Given the description of an element on the screen output the (x, y) to click on. 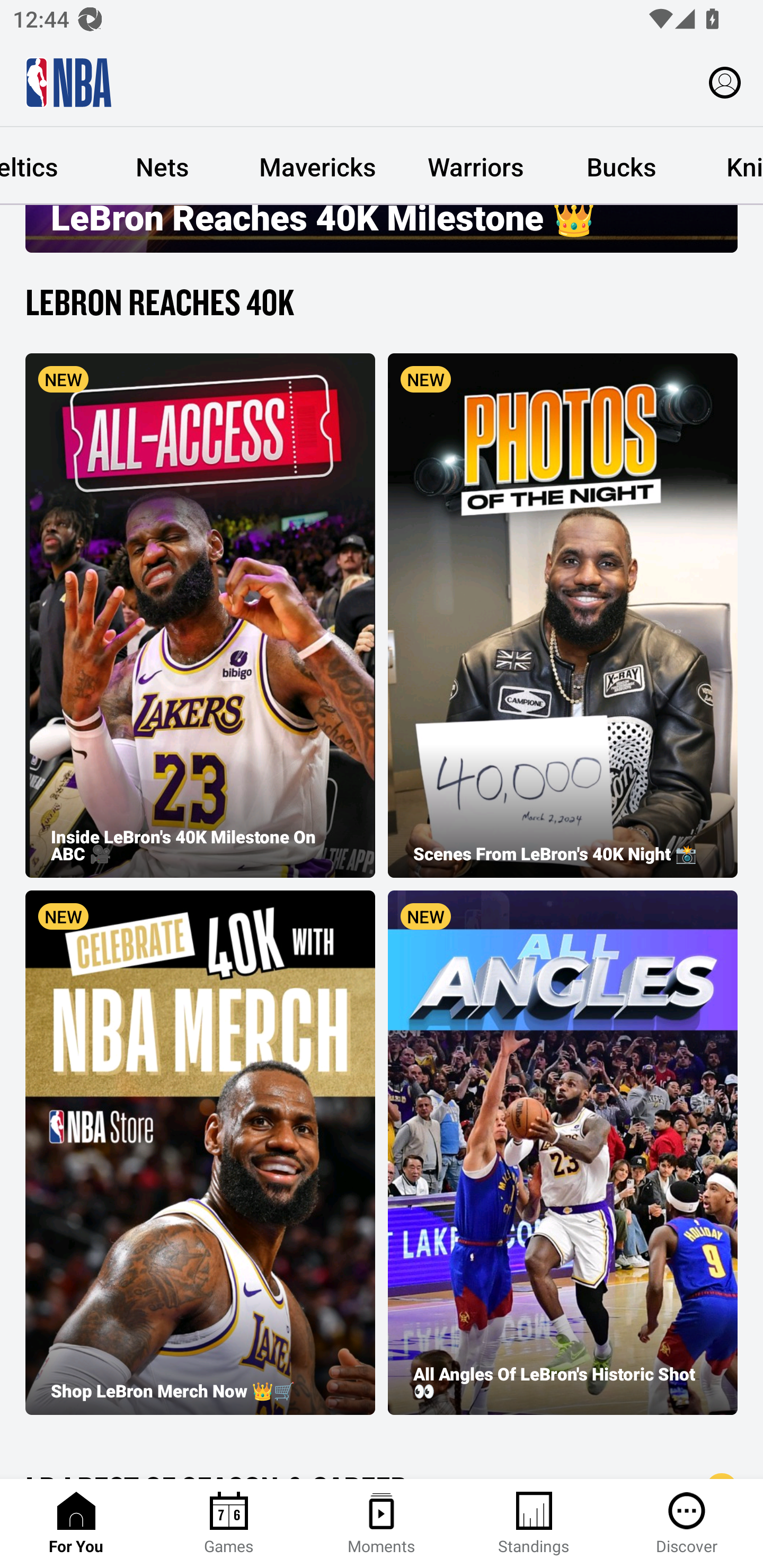
Profile (724, 81)
Nets (161, 166)
Mavericks (317, 166)
Warriors (476, 166)
Bucks (621, 166)
LeBron Reaches 40K Milestone 👑 (381, 228)
NEW Inside LeBron's 40K Milestone On ABC 🎥 (200, 615)
NEW Scenes From LeBron's 40K Night 📸 (562, 615)
NEW Shop LeBron Merch Now 👑🛒 (200, 1152)
NEW All Angles Of LeBron's Historic Shot 👀 (562, 1152)
Games (228, 1523)
Moments (381, 1523)
Standings (533, 1523)
Discover (686, 1523)
